Given the description of an element on the screen output the (x, y) to click on. 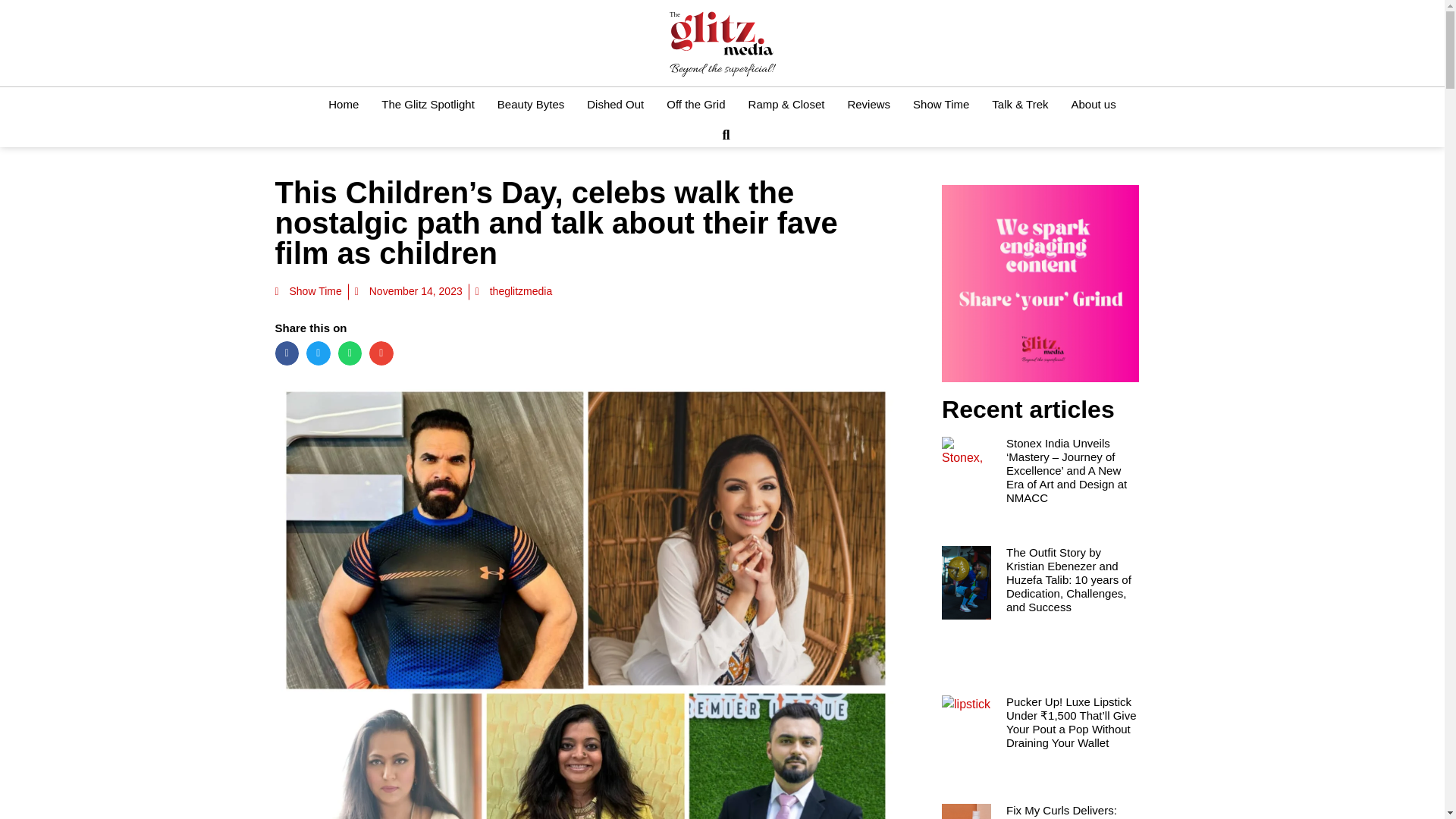
Home (343, 104)
November 14, 2023 (409, 291)
Beauty Bytes (530, 104)
Show Time (940, 104)
theglitzmedia (514, 291)
The Glitz Spotlight (427, 104)
Show Time (315, 291)
About us (1092, 104)
Off the Grid (695, 104)
Dished Out (615, 104)
